Given the description of an element on the screen output the (x, y) to click on. 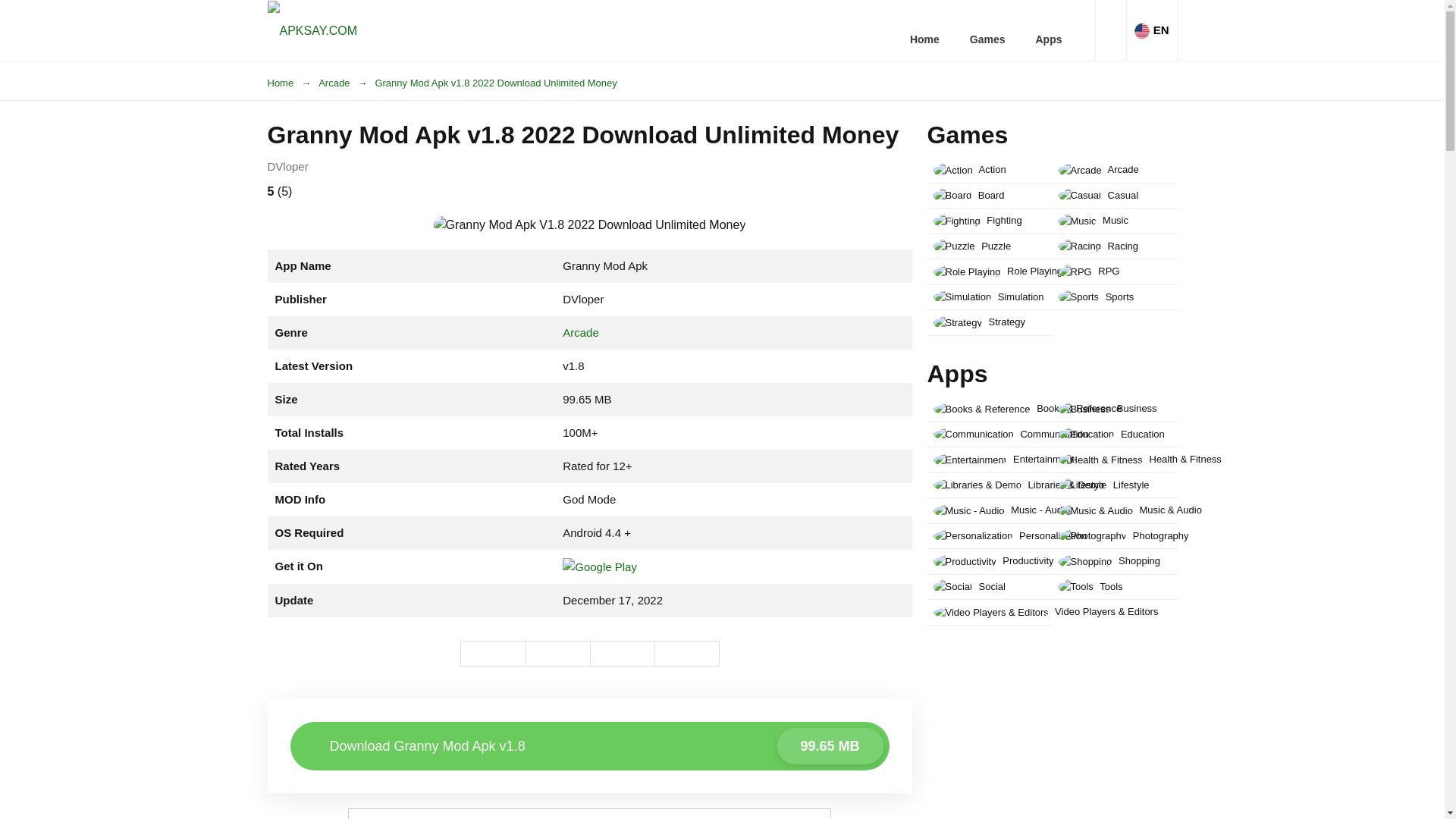
Apps (1048, 30)
Tweet this (556, 653)
Home (292, 83)
Games (588, 745)
Share on Whatsapp (987, 30)
Granny Mod Apk v1.8 2022 Download Unlimited Money (685, 653)
Home (494, 83)
Share on Facebook (925, 30)
Arcade (493, 653)
Share on Telegram (580, 332)
Arcade (621, 653)
